Given the description of an element on the screen output the (x, y) to click on. 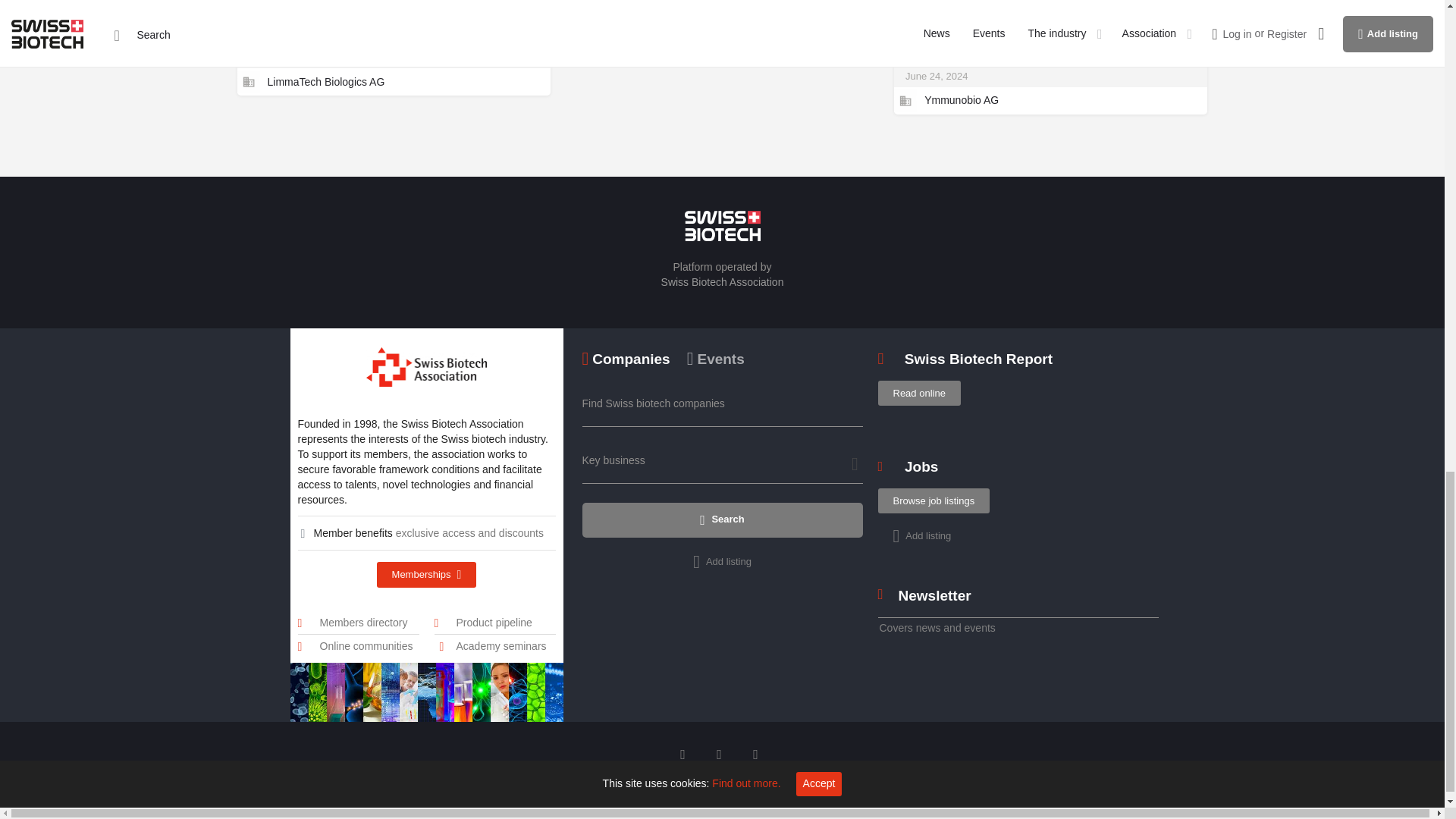
swiss-biotech-logo-neg (722, 225)
